Given the description of an element on the screen output the (x, y) to click on. 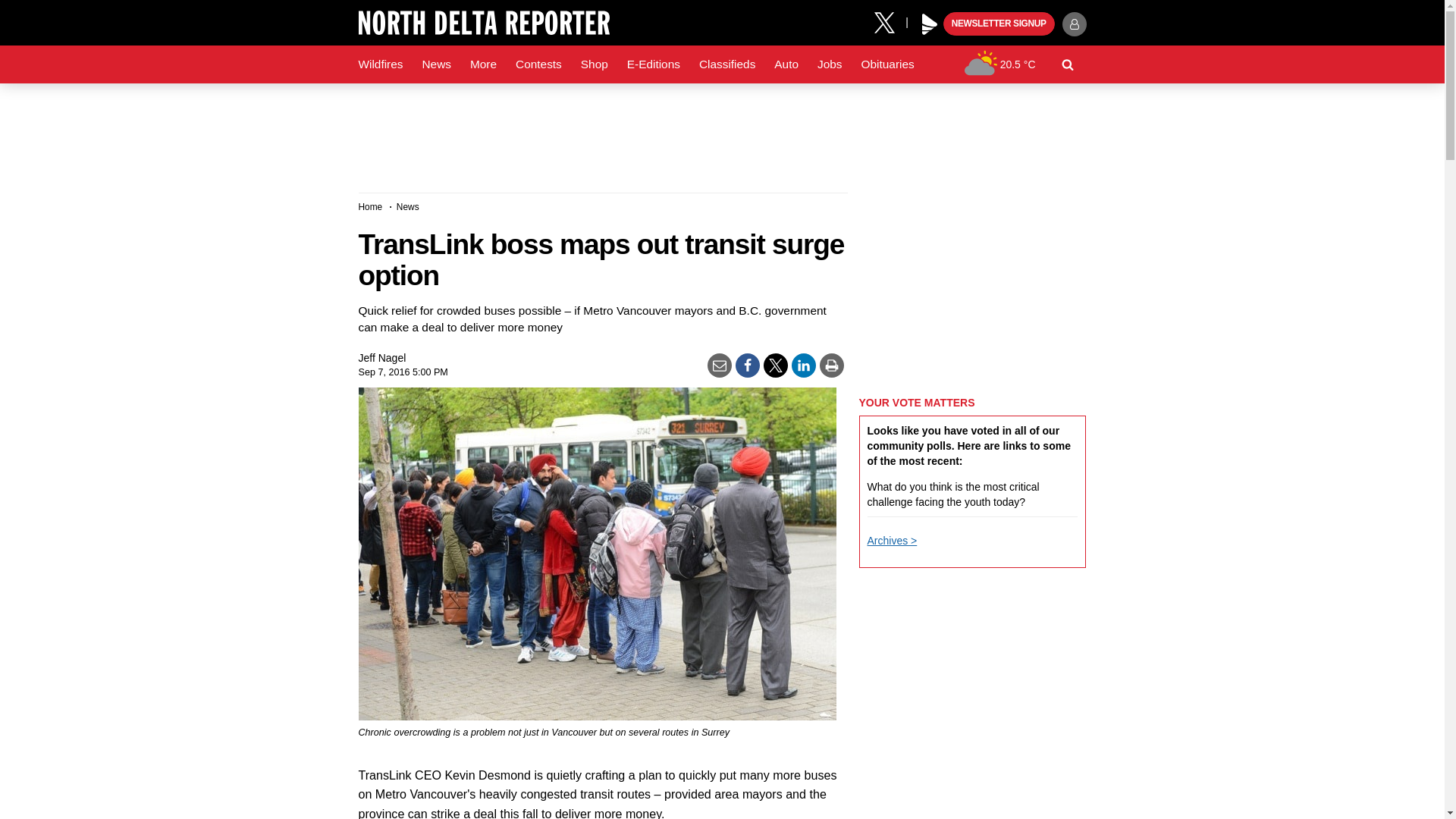
News (435, 64)
Black Press Media (929, 24)
NEWSLETTER SIGNUP (998, 24)
Wildfires (380, 64)
Play (929, 24)
X (889, 21)
